Given the description of an element on the screen output the (x, y) to click on. 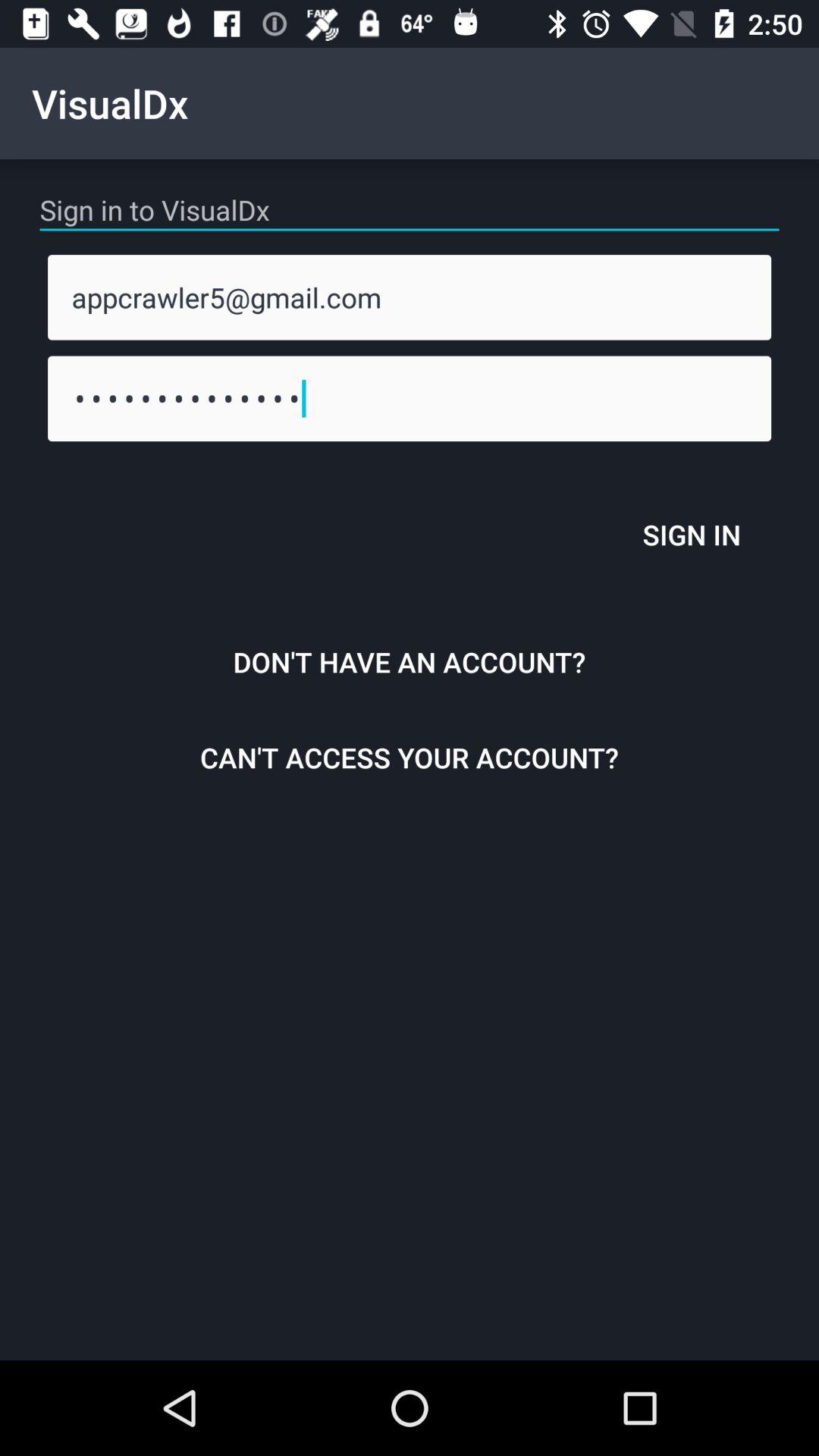
click appcrawler3116 icon (409, 398)
